Given the description of an element on the screen output the (x, y) to click on. 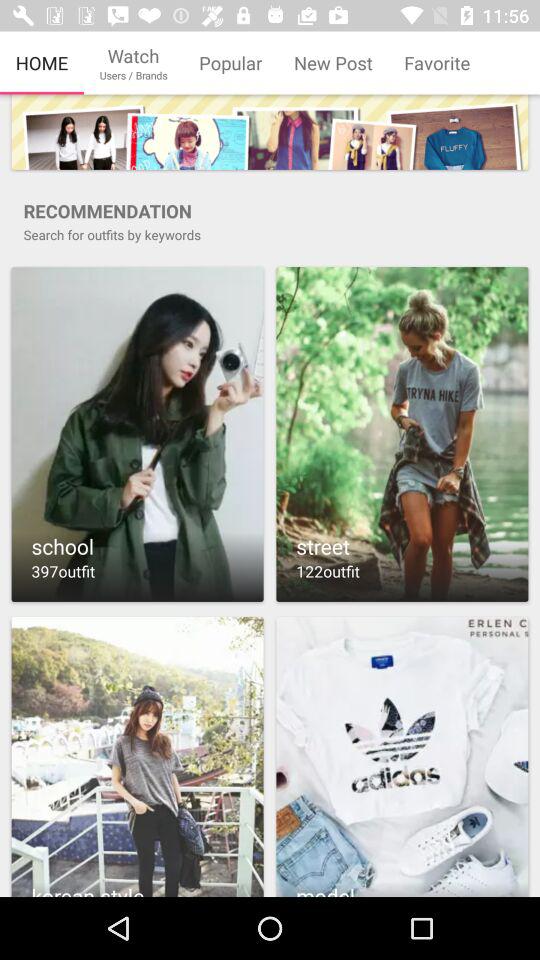
share the photo (137, 756)
